Given the description of an element on the screen output the (x, y) to click on. 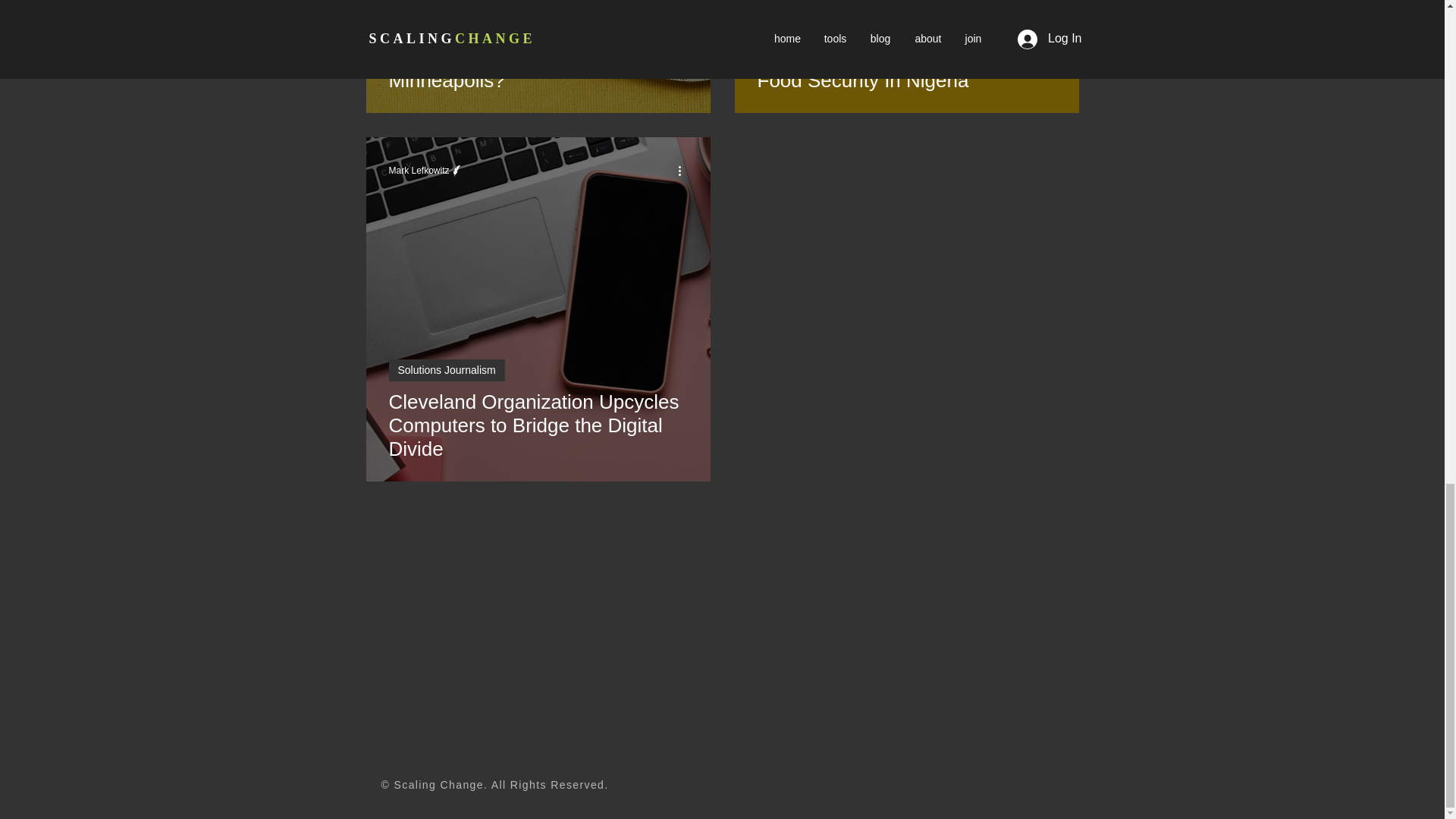
Solutions Journalism (445, 6)
Mark Lefkowitz (418, 170)
Mark Lefkowitz (425, 169)
Solutions Journalism (814, 6)
Solutions Journalism (445, 370)
